Given the description of an element on the screen output the (x, y) to click on. 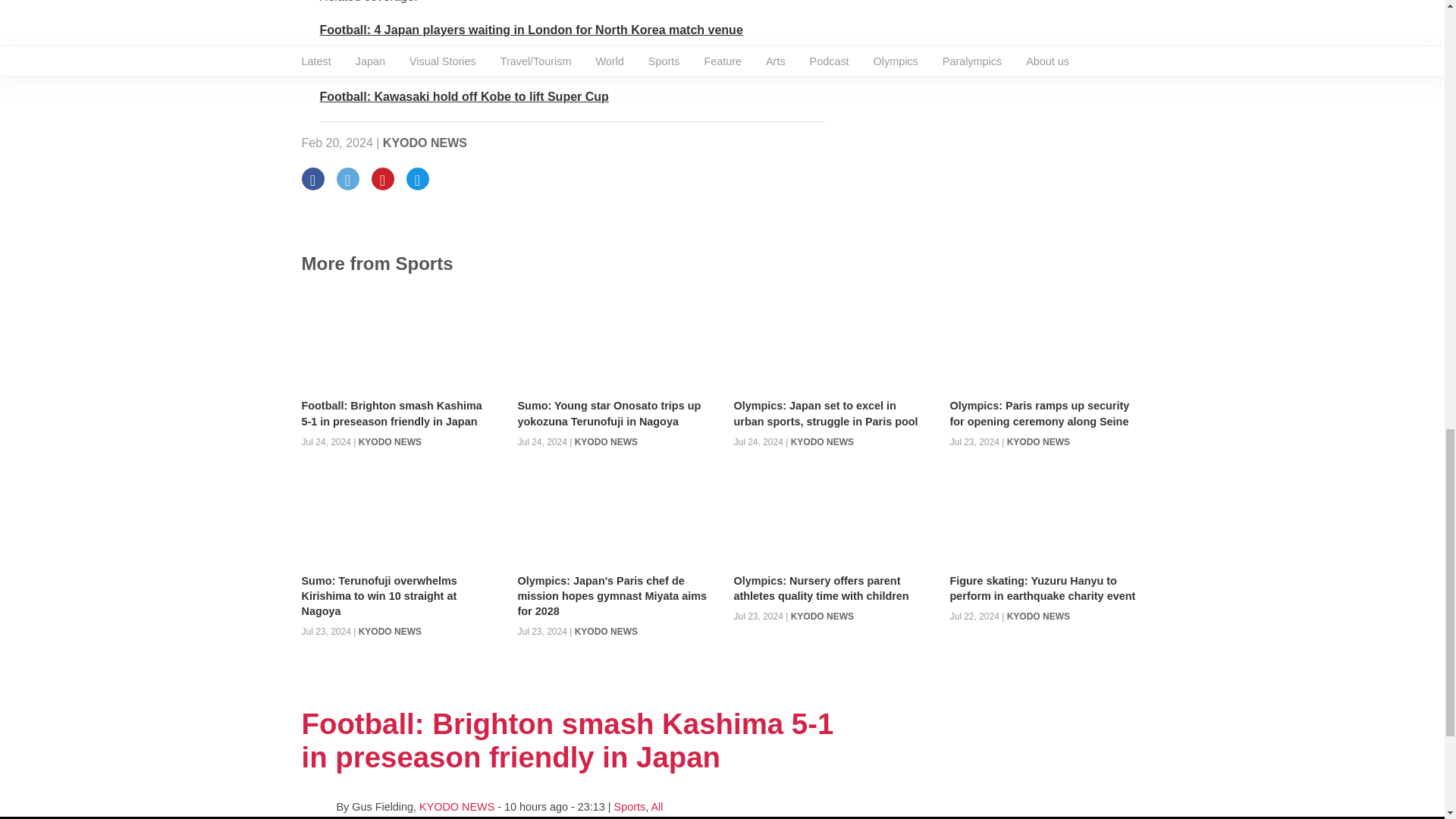
Football: Kawasaki hold off Kobe to lift Super Cup (464, 96)
Kyodo News Plus (531, 29)
KYODO NEWS (424, 142)
Kyodo News Plus (513, 62)
Kyodo News Plus (464, 96)
